Given the description of an element on the screen output the (x, y) to click on. 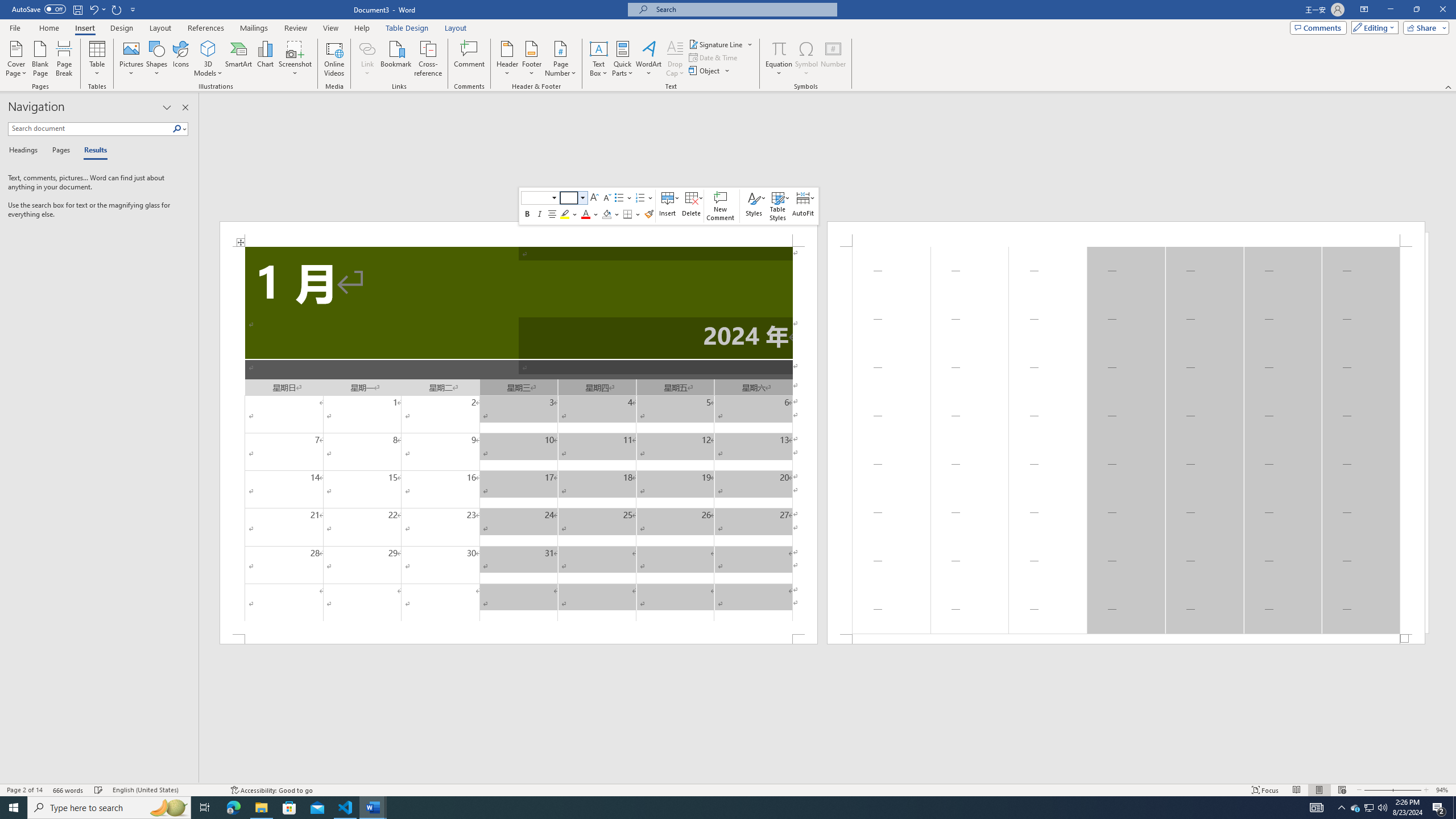
3D Models (208, 48)
Page Break (1355, 807)
Header (63, 58)
Text Box (507, 58)
Blank Page (598, 58)
